Given the description of an element on the screen output the (x, y) to click on. 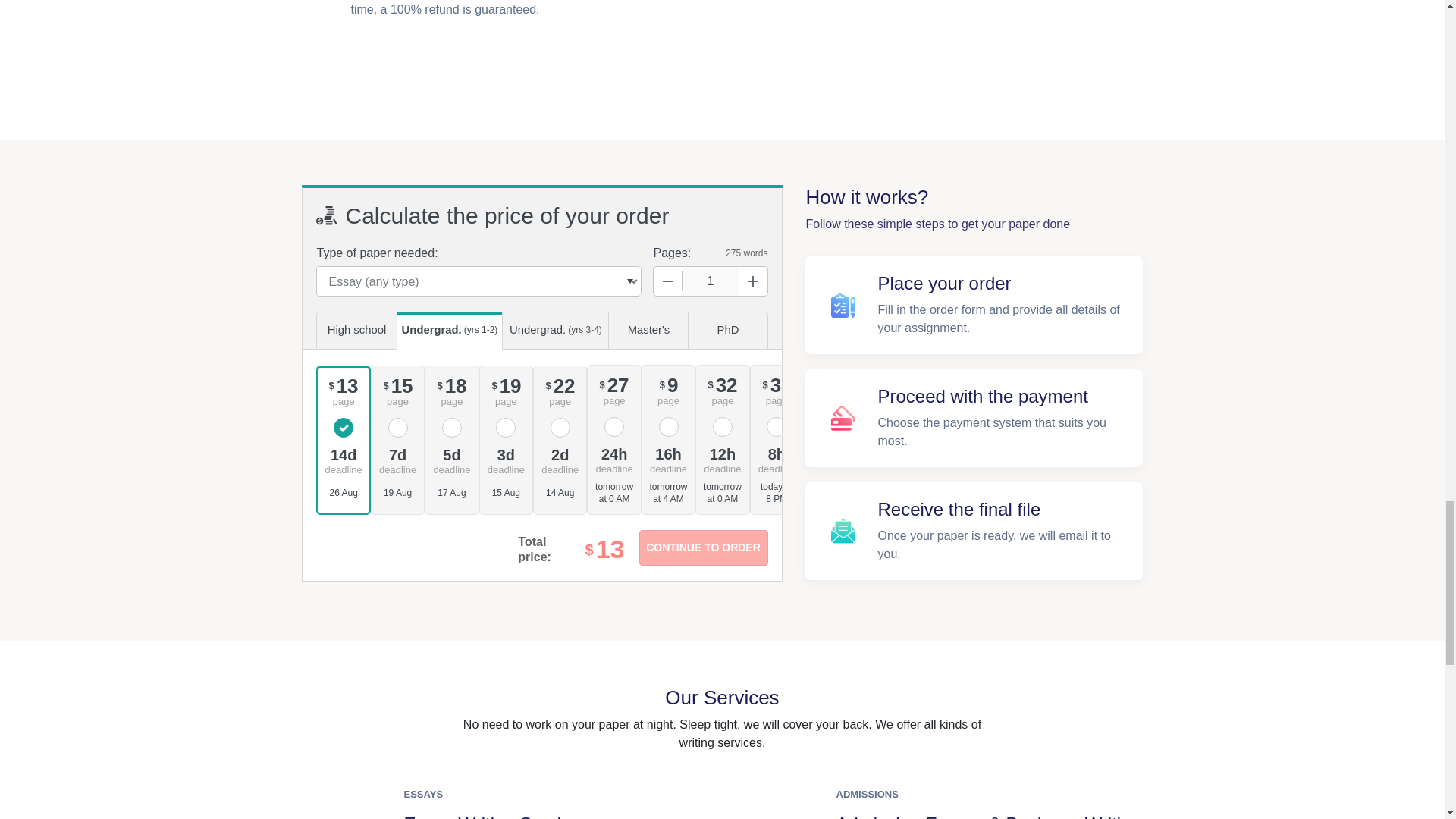
7 days (397, 459)
Continue to order (703, 547)
Decrease (667, 280)
14 days (342, 459)
Continue to order (703, 547)
Increase (752, 280)
1 (710, 280)
